Given the description of an element on the screen output the (x, y) to click on. 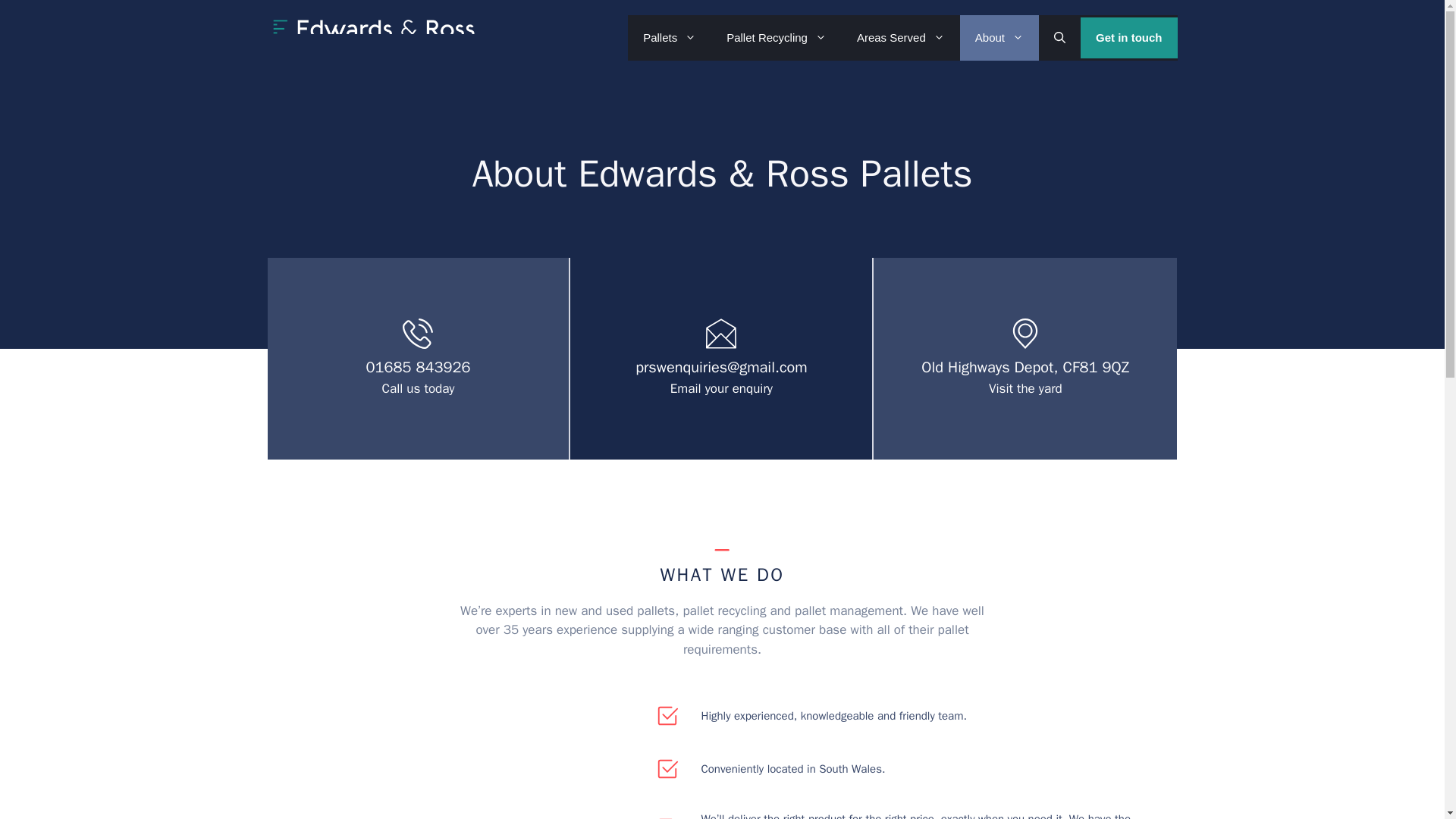
Pallets (669, 37)
Get in touch (1128, 37)
About (999, 37)
Pallet Recycling (776, 37)
Areas Served (900, 37)
Old Highways Depot, CF81 9QZ (1025, 366)
01685 843926 (418, 366)
